Given the description of an element on the screen output the (x, y) to click on. 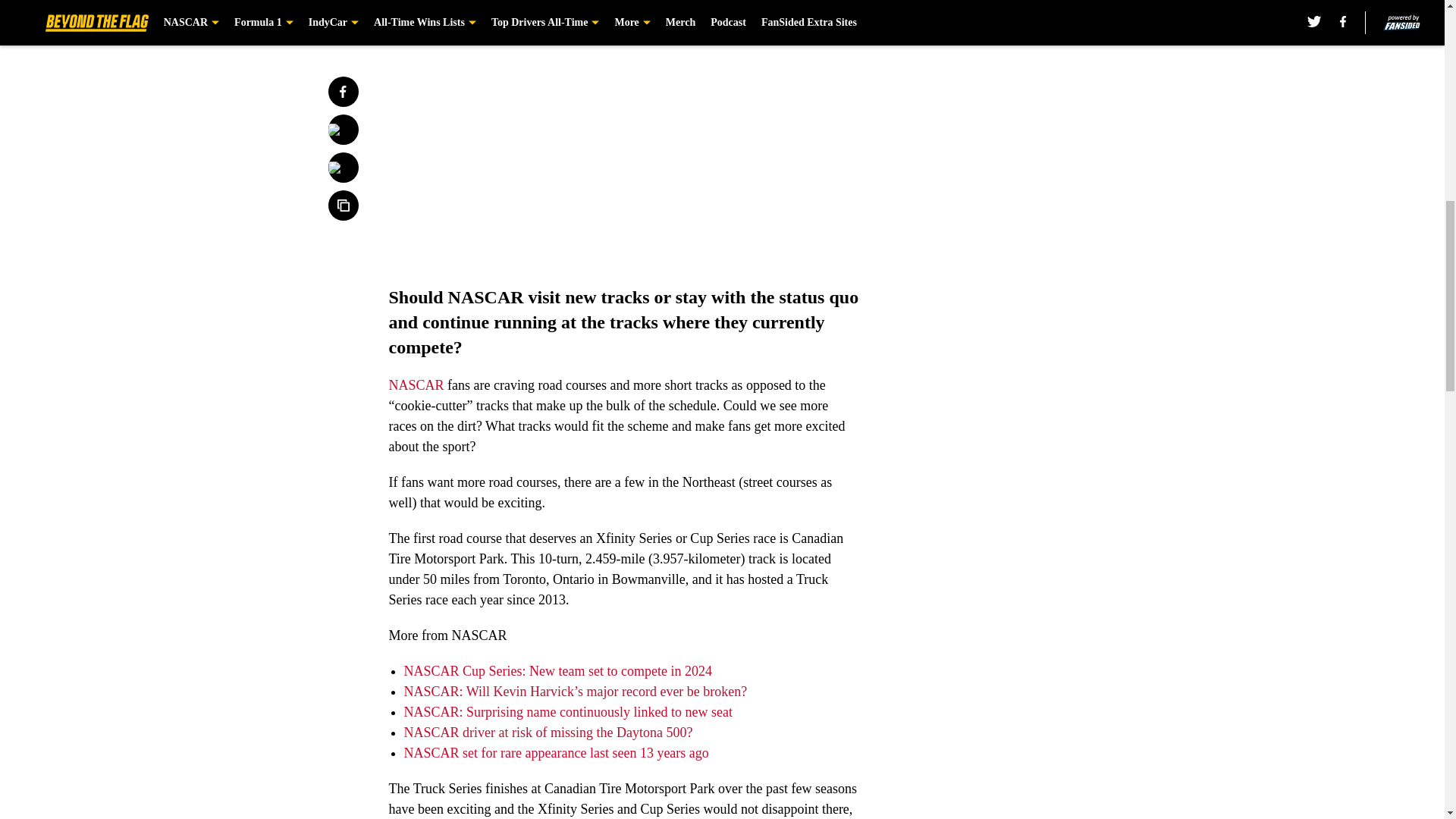
NASCAR driver at risk of missing the Daytona 500? (548, 732)
NASCAR: Surprising name continuously linked to new seat (567, 711)
NASCAR (416, 385)
NASCAR Cup Series: New team set to compete in 2024 (557, 670)
